Given the description of an element on the screen output the (x, y) to click on. 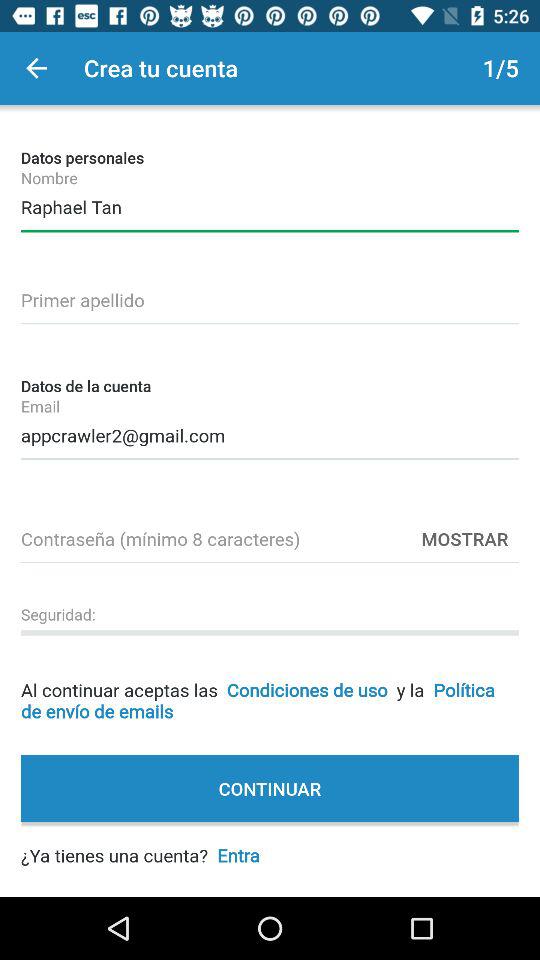
tap the item below the appcrawler2@gmail.com (465, 538)
